Given the description of an element on the screen output the (x, y) to click on. 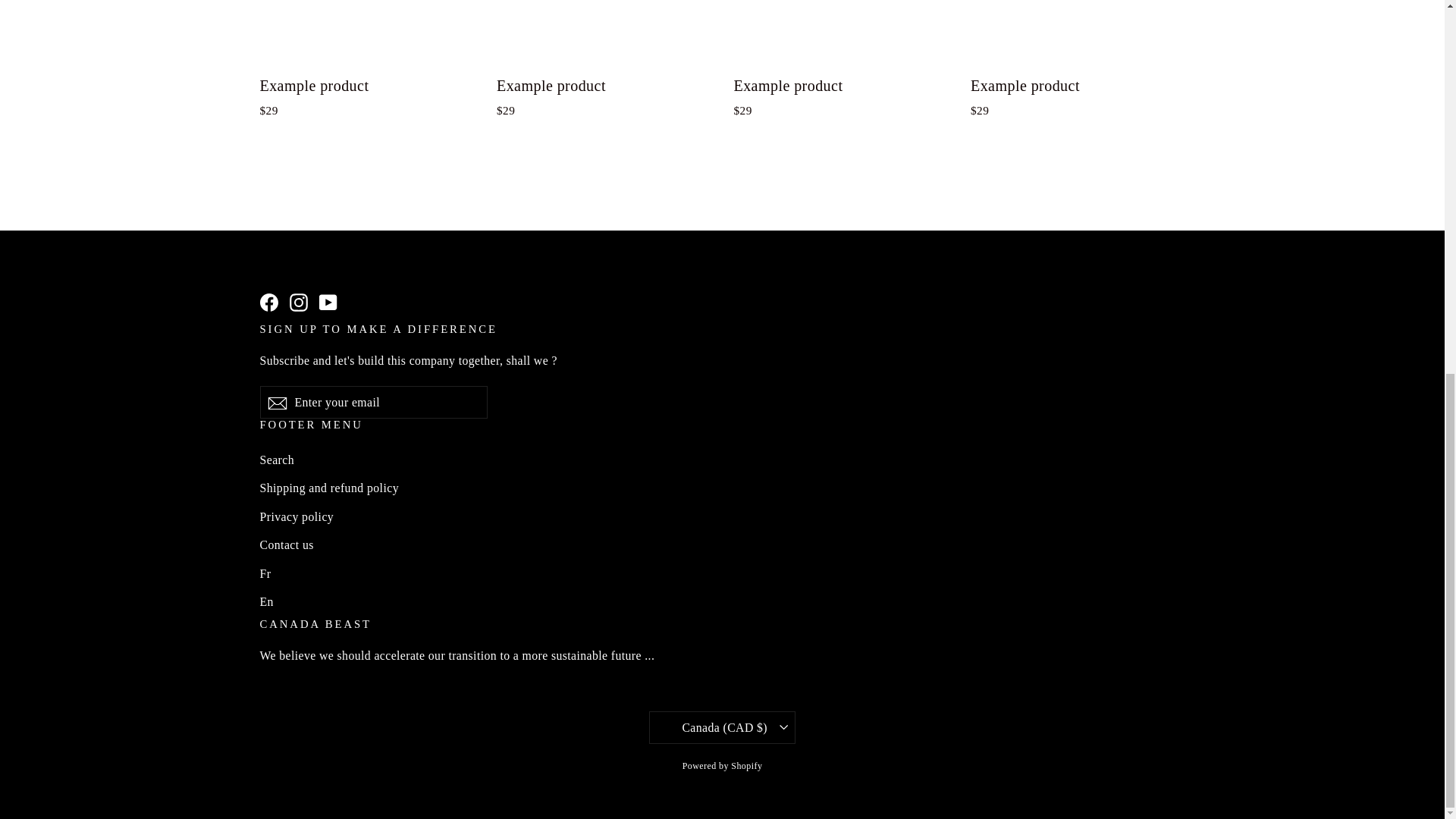
Canada Beast  on Instagram (298, 300)
Canada Beast  on YouTube (327, 300)
